Given the description of an element on the screen output the (x, y) to click on. 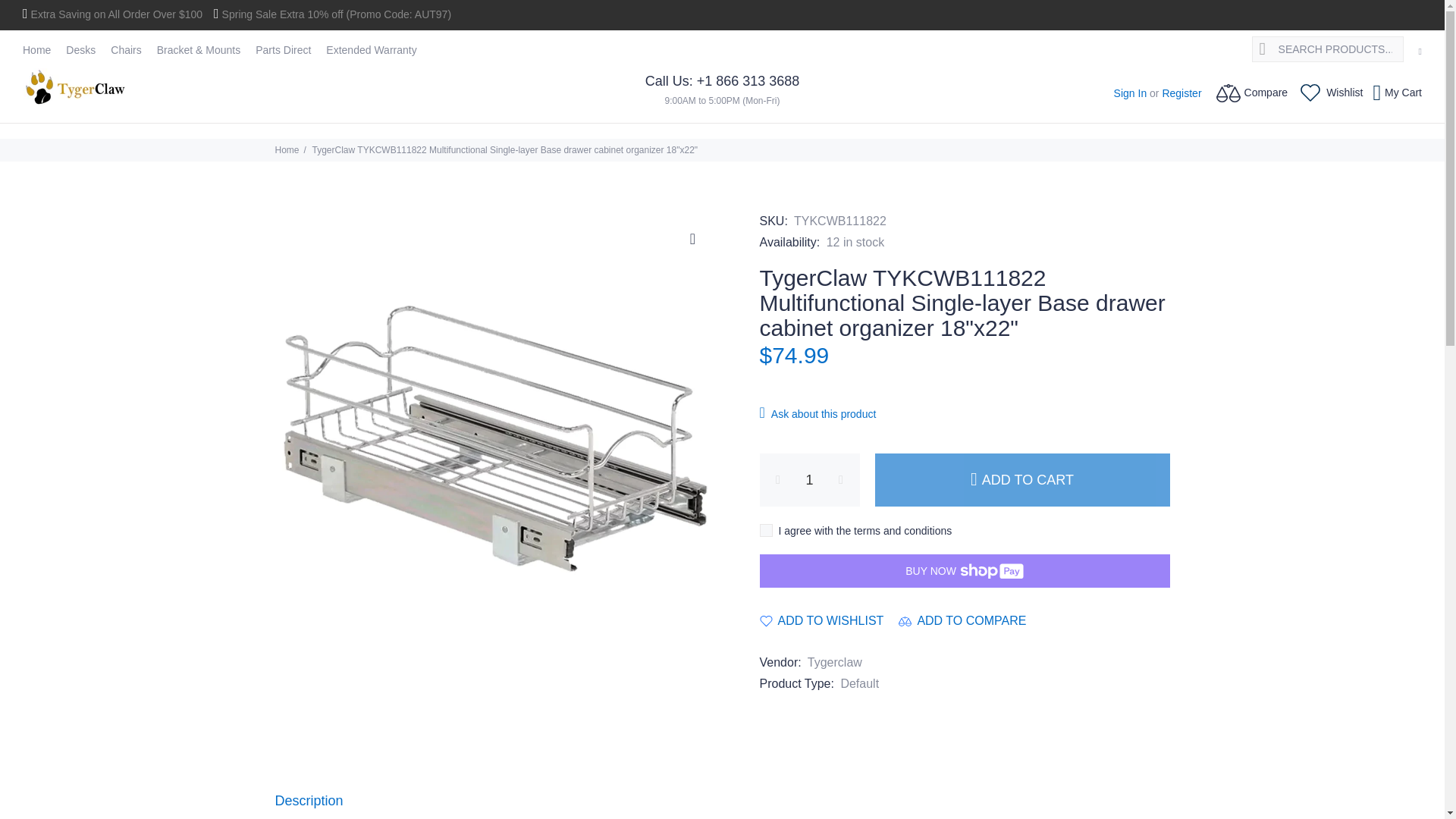
1 (810, 479)
